Given the description of an element on the screen output the (x, y) to click on. 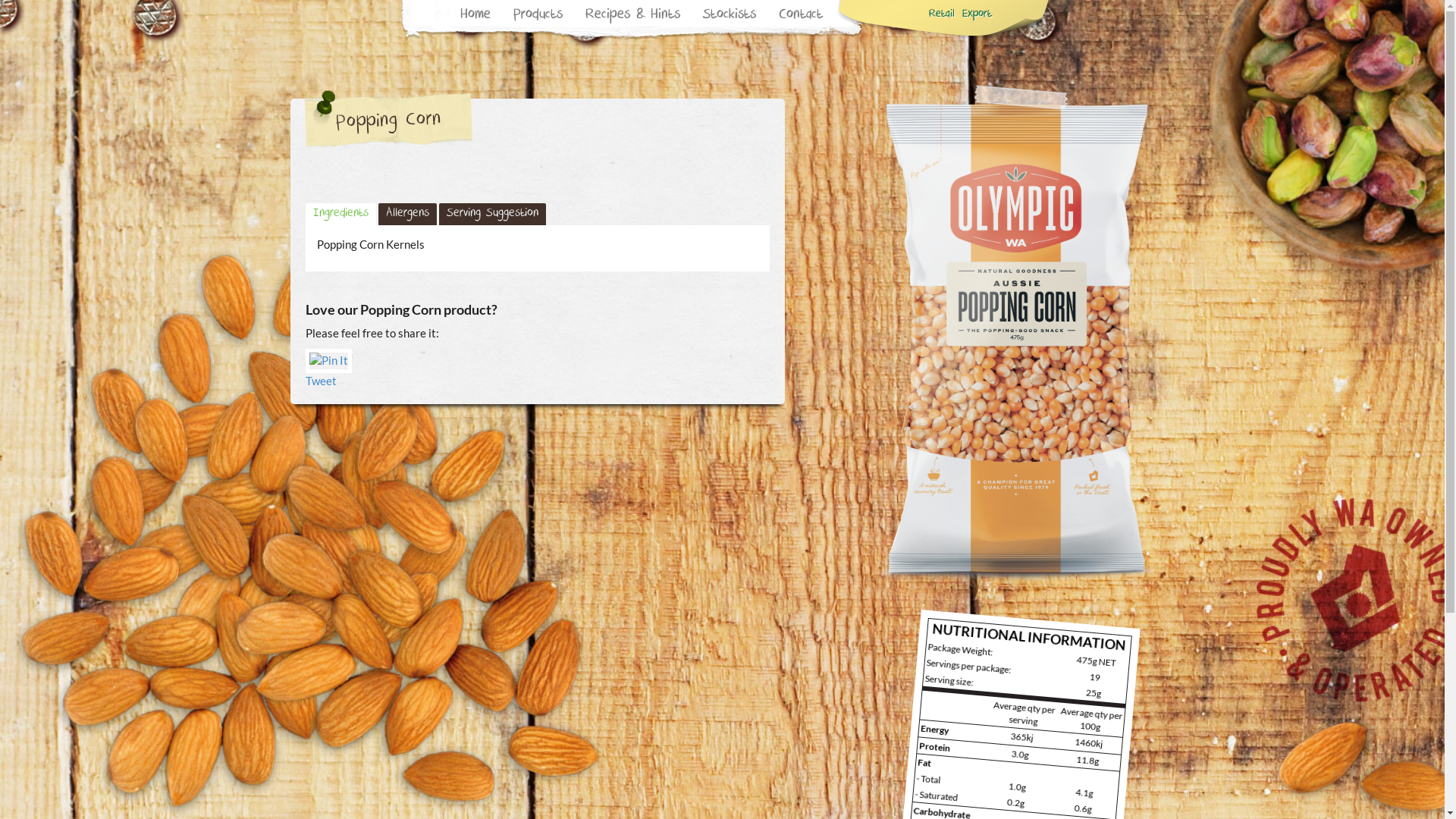
Contact Element type: text (800, 15)
Tweet Element type: text (319, 380)
Recipes & Hints Element type: text (632, 15)
Products Element type: text (538, 15)
Export Element type: text (976, 15)
Retail Element type: text (941, 15)
Stockists Element type: text (729, 15)
Home Element type: text (475, 15)
Pin It Element type: hover (327, 360)
